Given the description of an element on the screen output the (x, y) to click on. 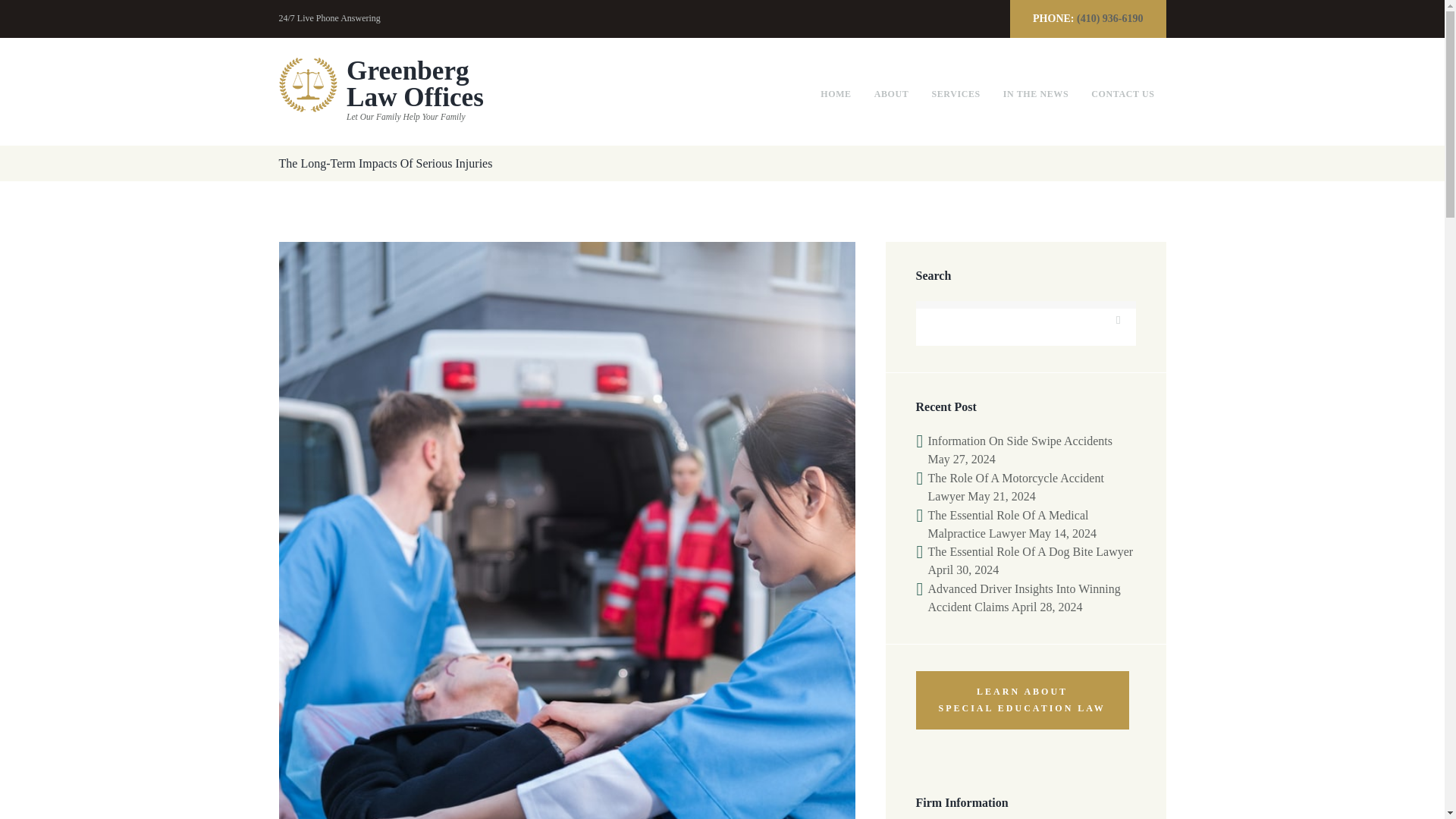
ABOUT (381, 91)
SERVICES (891, 93)
The Long-Term Impacts Of Serious Injuries (955, 93)
